Given the description of an element on the screen output the (x, y) to click on. 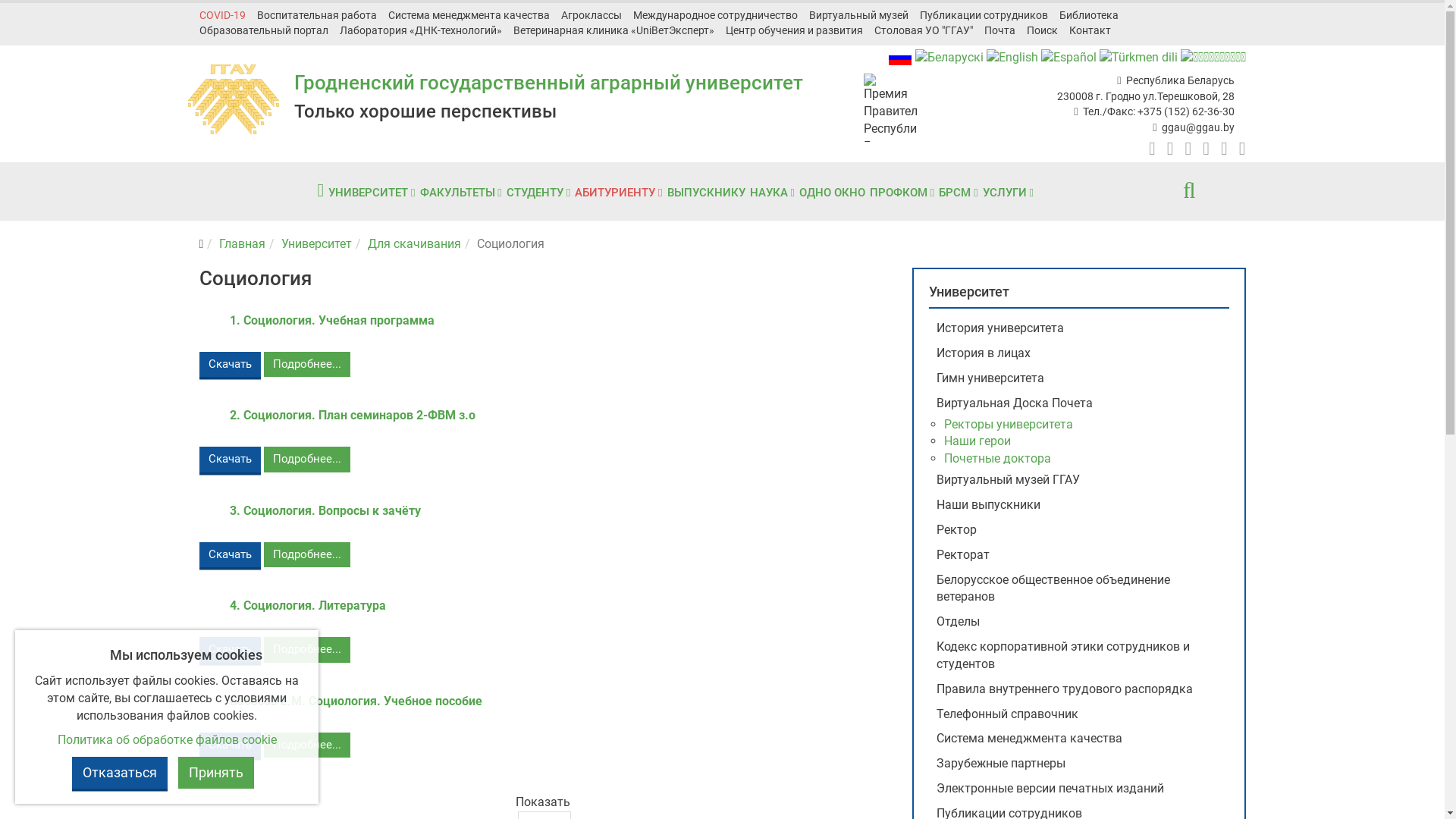
COVID-19 Element type: text (227, 14)
English Element type: hover (1011, 57)
